Given the description of an element on the screen output the (x, y) to click on. 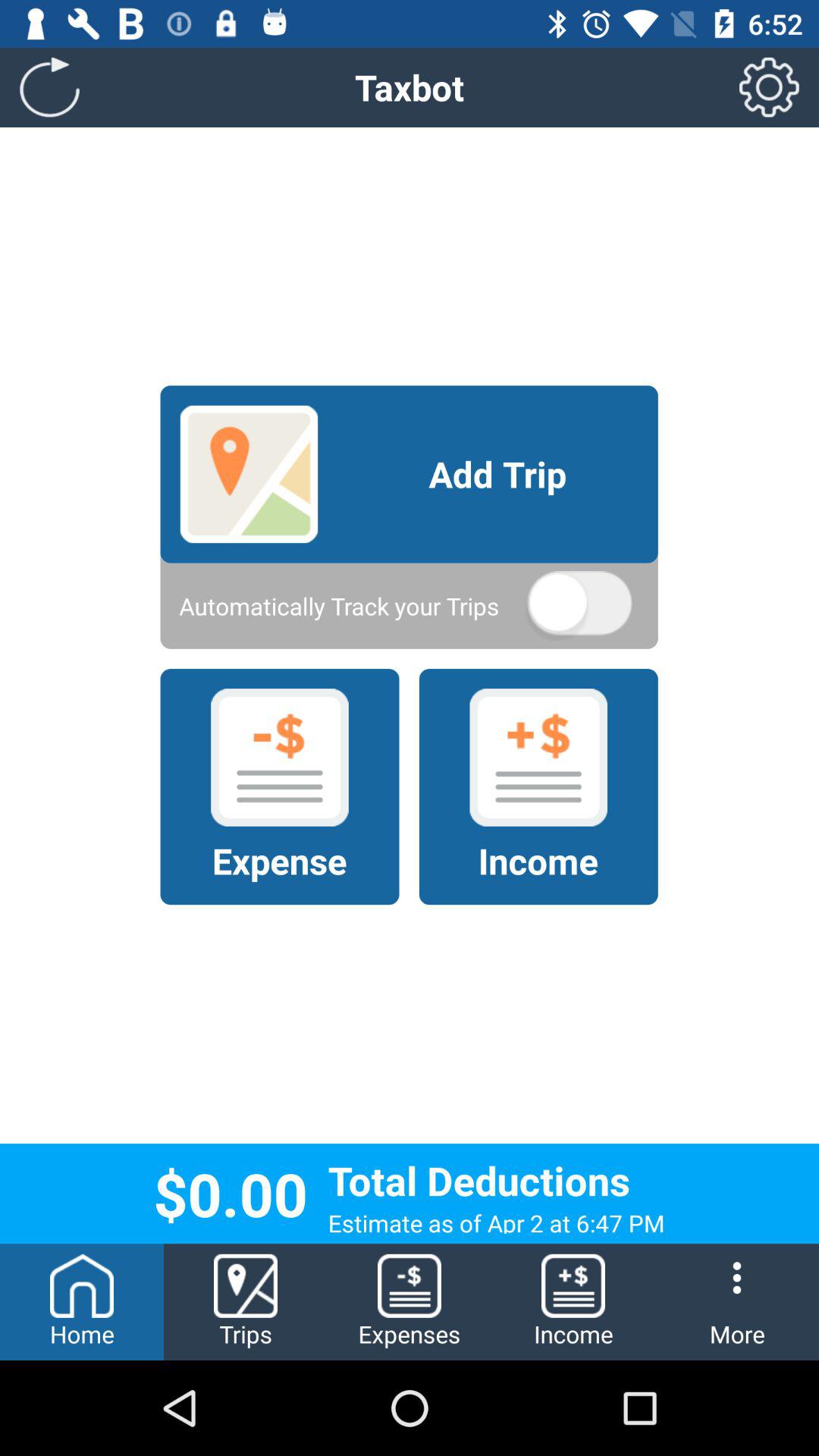
press icon above home item (49, 87)
